Given the description of an element on the screen output the (x, y) to click on. 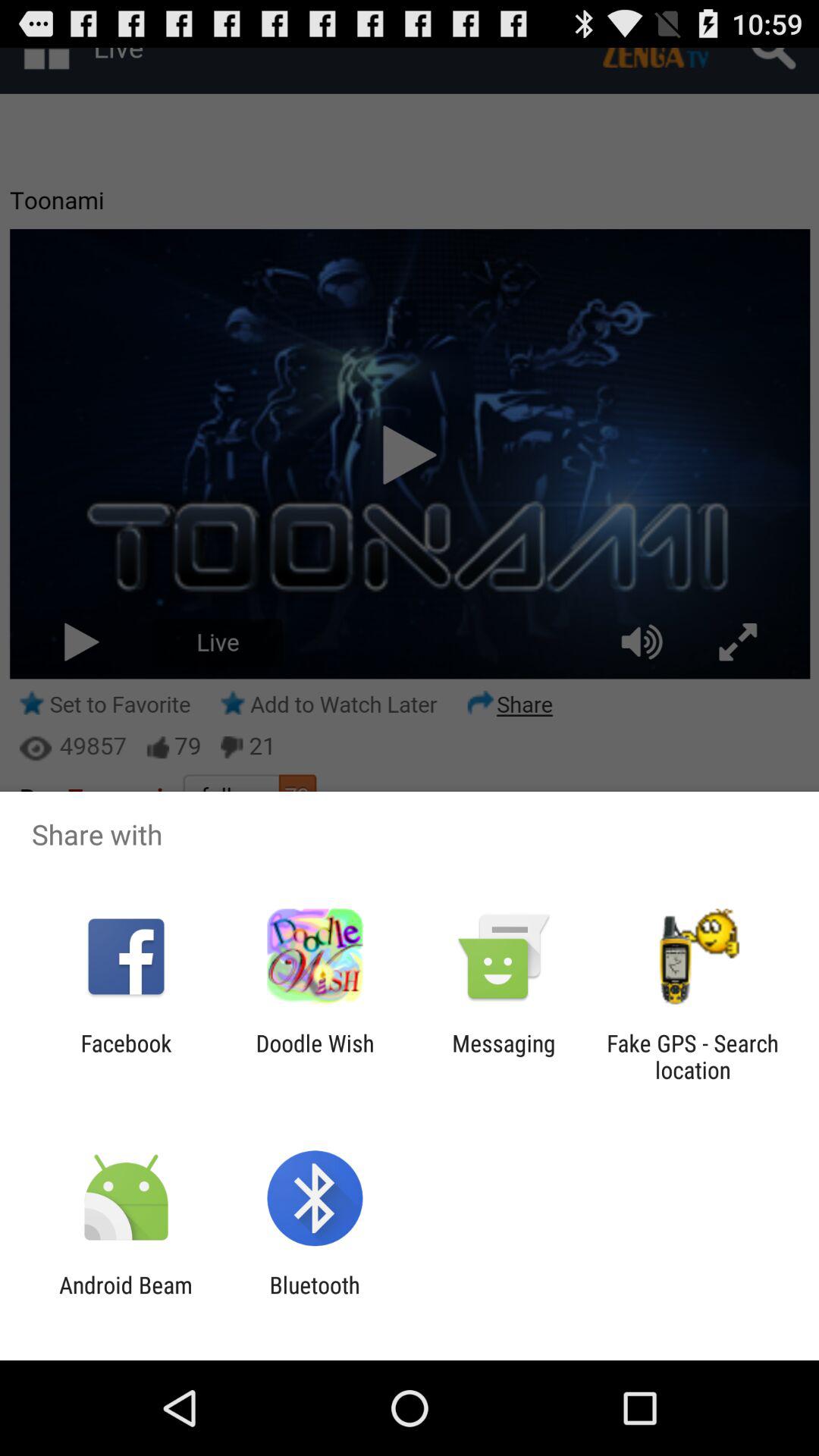
turn on android beam app (125, 1298)
